Given the description of an element on the screen output the (x, y) to click on. 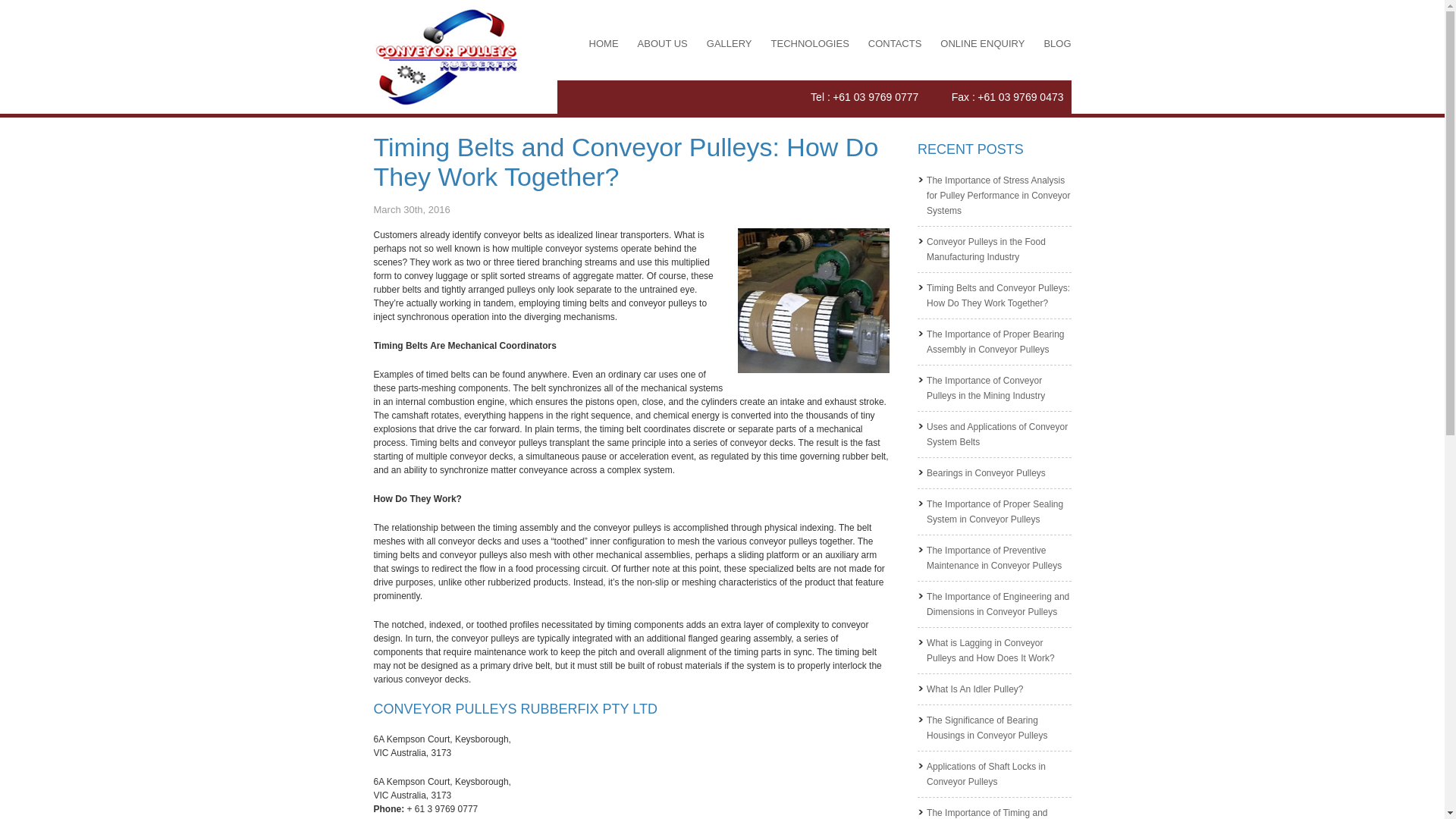
The Significance of Bearing Housings in Conveyor Pulleys Element type: text (986, 727)
What Is An Idler Pulley? Element type: text (974, 689)
The Importance of Conveyor Pulleys in the Mining Industry Element type: text (985, 388)
Bearings in Conveyor Pulleys Element type: text (985, 472)
ABOUT US Element type: text (662, 43)
ONLINE ENQUIRY Element type: text (982, 43)
BLOG Element type: text (1056, 43)
Conveyor Pulleys in the Food Manufacturing Industry Element type: text (985, 249)
TECHNOLOGIES Element type: text (810, 43)
CONTACTS Element type: text (895, 43)
GALLERY Element type: text (729, 43)
HOME Element type: text (603, 43)
What is Lagging in Conveyor Pulleys and How Does It Work? Element type: text (990, 650)
The Importance of Preventive Maintenance in Conveyor Pulleys Element type: text (993, 558)
Uses and Applications of Conveyor System Belts Element type: text (996, 434)
The Importance of Proper Sealing System in Conveyor Pulleys Element type: text (994, 511)
Conveyor Pulleys Rubberfix Pty Ltd Element type: text (446, 56)
Applications of Shaft Locks in Conveyor Pulleys Element type: text (985, 774)
